Given the description of an element on the screen output the (x, y) to click on. 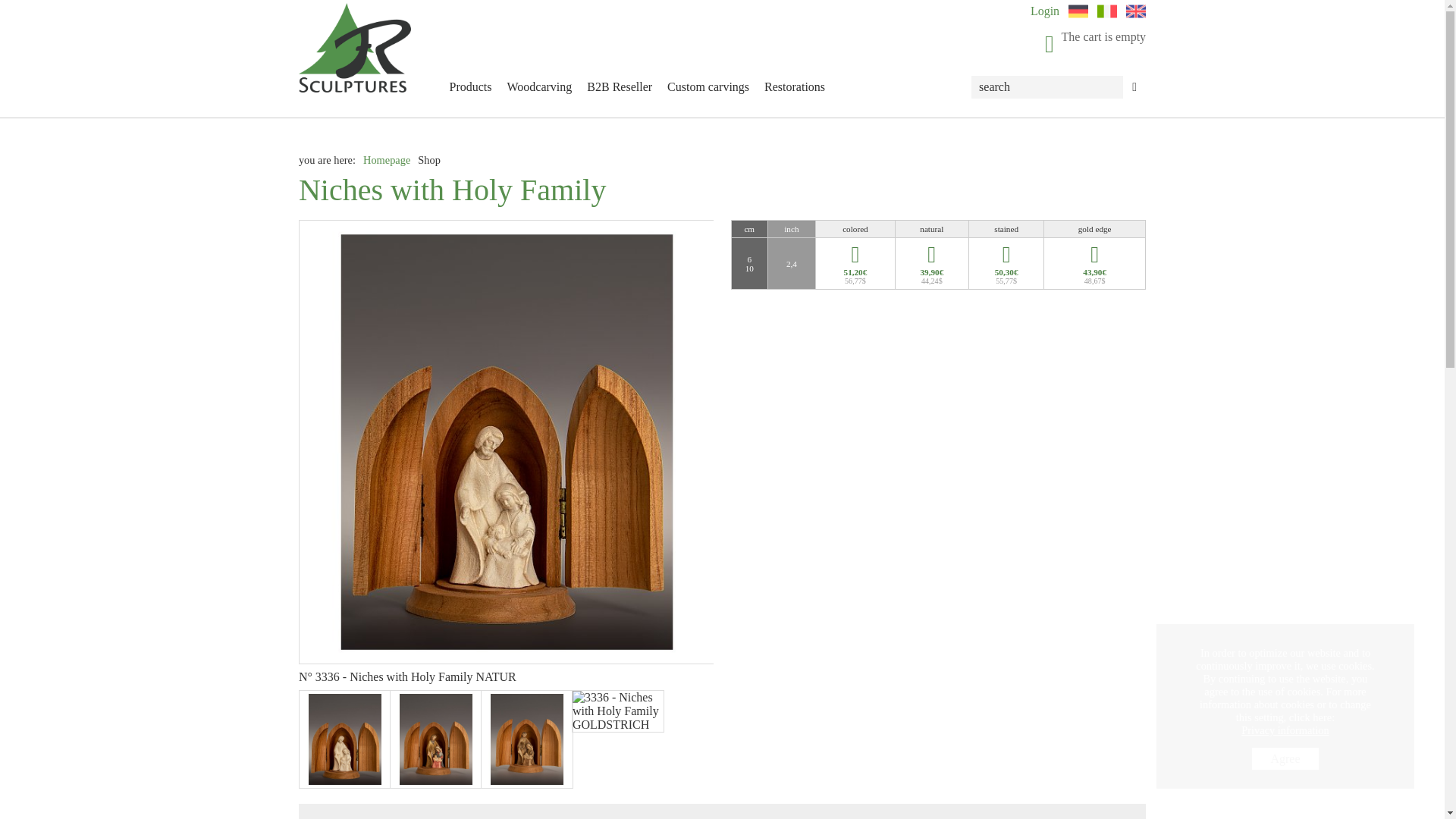
Login (1044, 10)
3336 - Niches with Holy Family COLOR (435, 739)
3336 - Niches with Holy Family NATUR (344, 739)
Restorations (794, 87)
B2B Reseller (619, 87)
3336 - Niches with Holy Family MEHR0GEB (526, 739)
Products (470, 87)
